Given the description of an element on the screen output the (x, y) to click on. 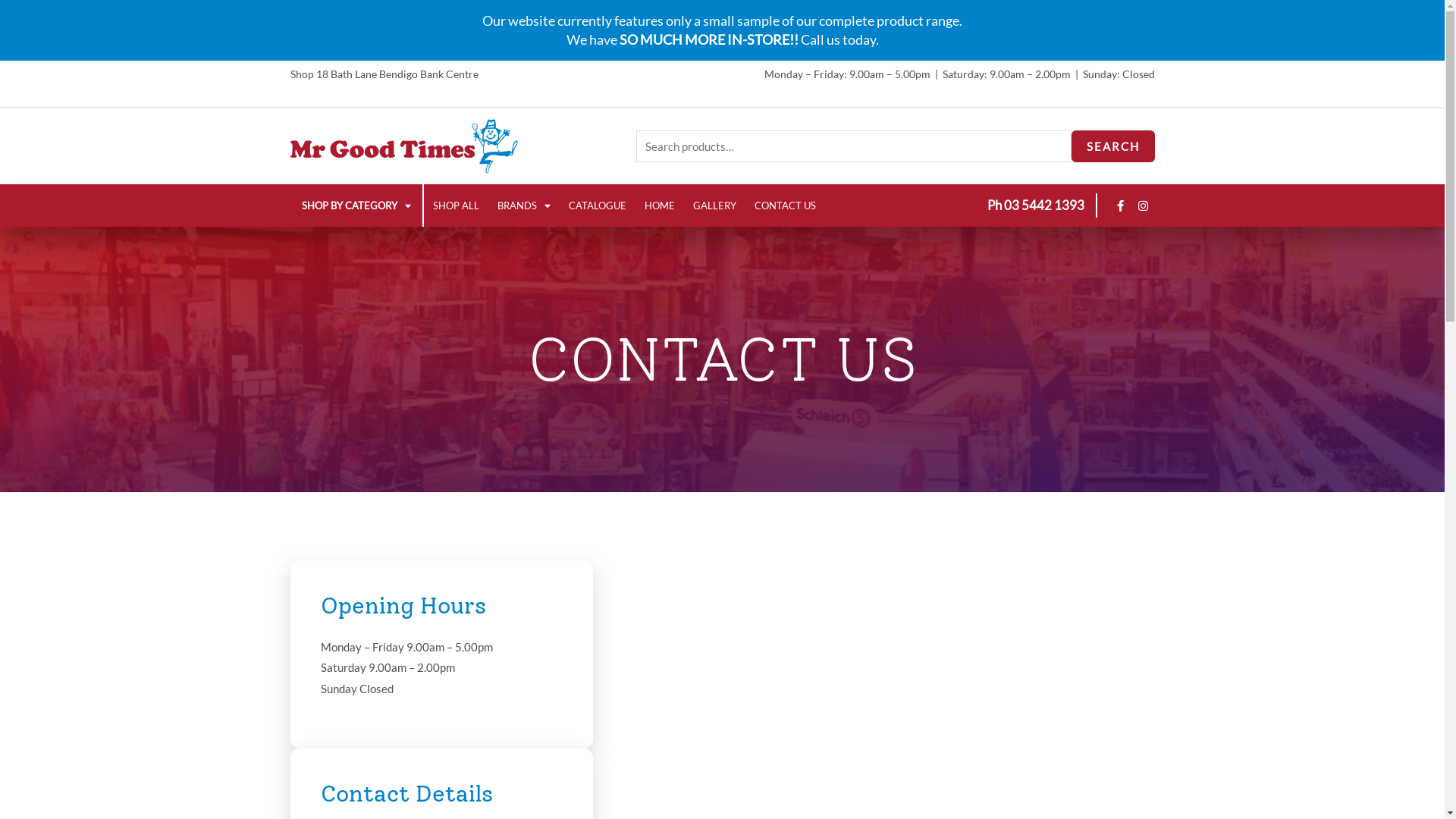
SEARCH Element type: text (1112, 146)
CATALOGUE Element type: text (597, 205)
GALLERY Element type: text (714, 205)
HOME Element type: text (659, 205)
SHOP BY CATEGORY Element type: text (355, 205)
Ph 03 5442 1393 Element type: text (1035, 205)
SHOP ALL Element type: text (455, 205)
CONTACT US Element type: text (784, 205)
BRANDS Element type: text (523, 205)
